Given the description of an element on the screen output the (x, y) to click on. 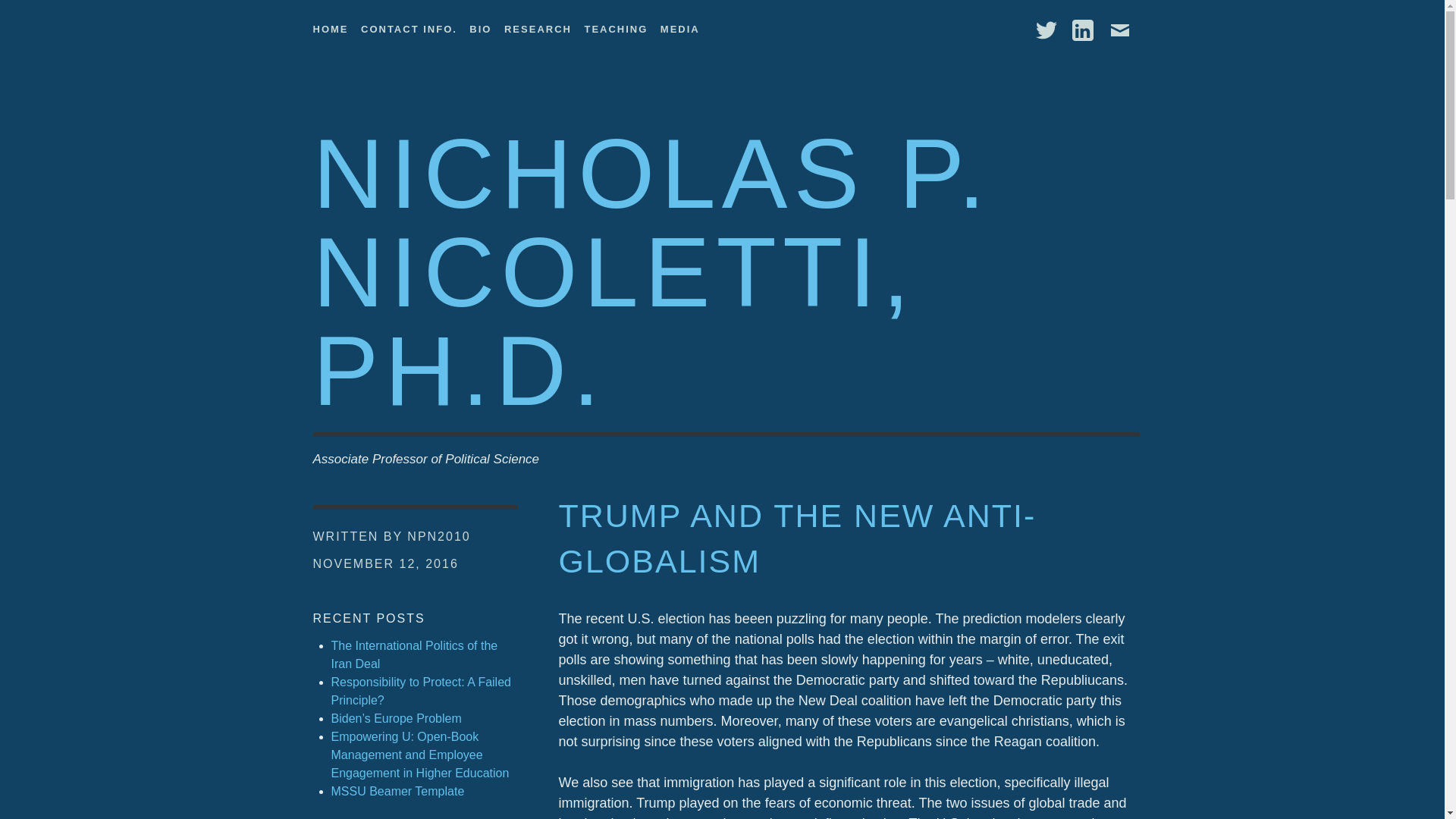
NOVEMBER 12, 2016 (385, 563)
TEACHING (615, 25)
NPN2010 (438, 535)
BIO (480, 25)
MEDIA (680, 25)
RESEARCH (537, 25)
The International Politics of the Iran Deal (413, 654)
LinkedIn (1082, 30)
MSSU Beamer Template (397, 790)
